Given the description of an element on the screen output the (x, y) to click on. 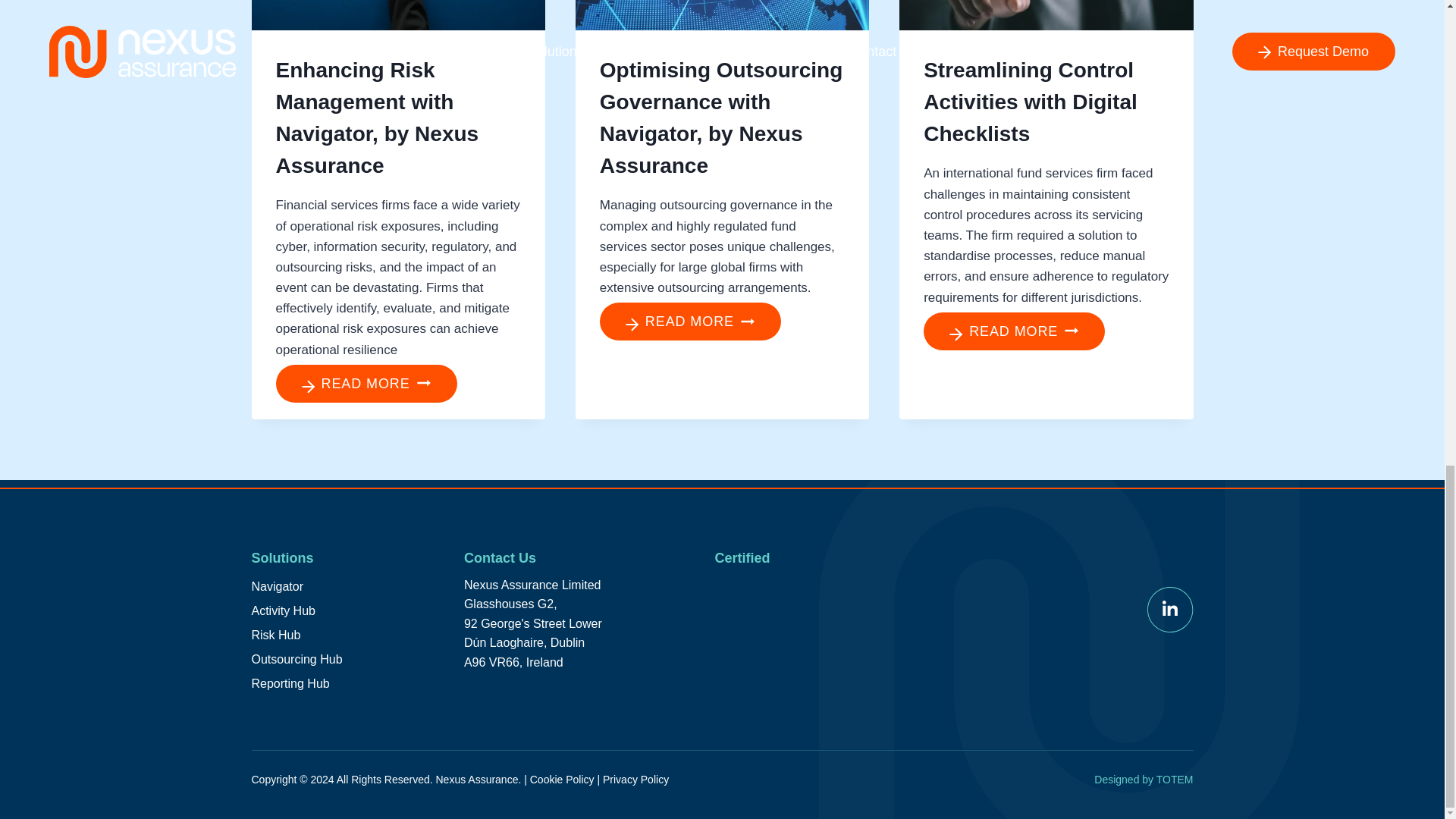
Enhancing Risk Management with Navigator, by Nexus Assurance (377, 117)
